Given the description of an element on the screen output the (x, y) to click on. 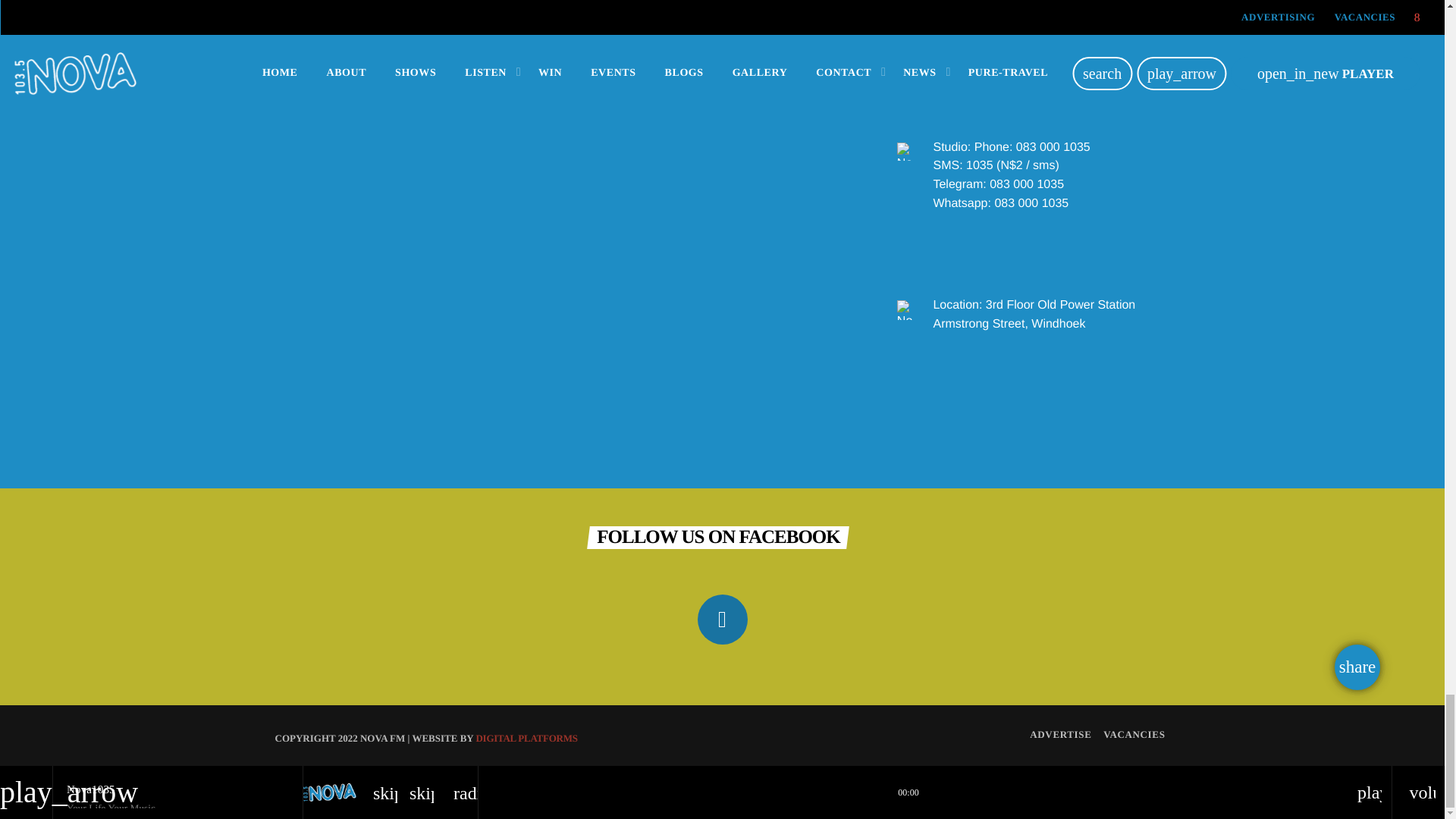
Website by Digital Platforms (526, 737)
